Given the description of an element on the screen output the (x, y) to click on. 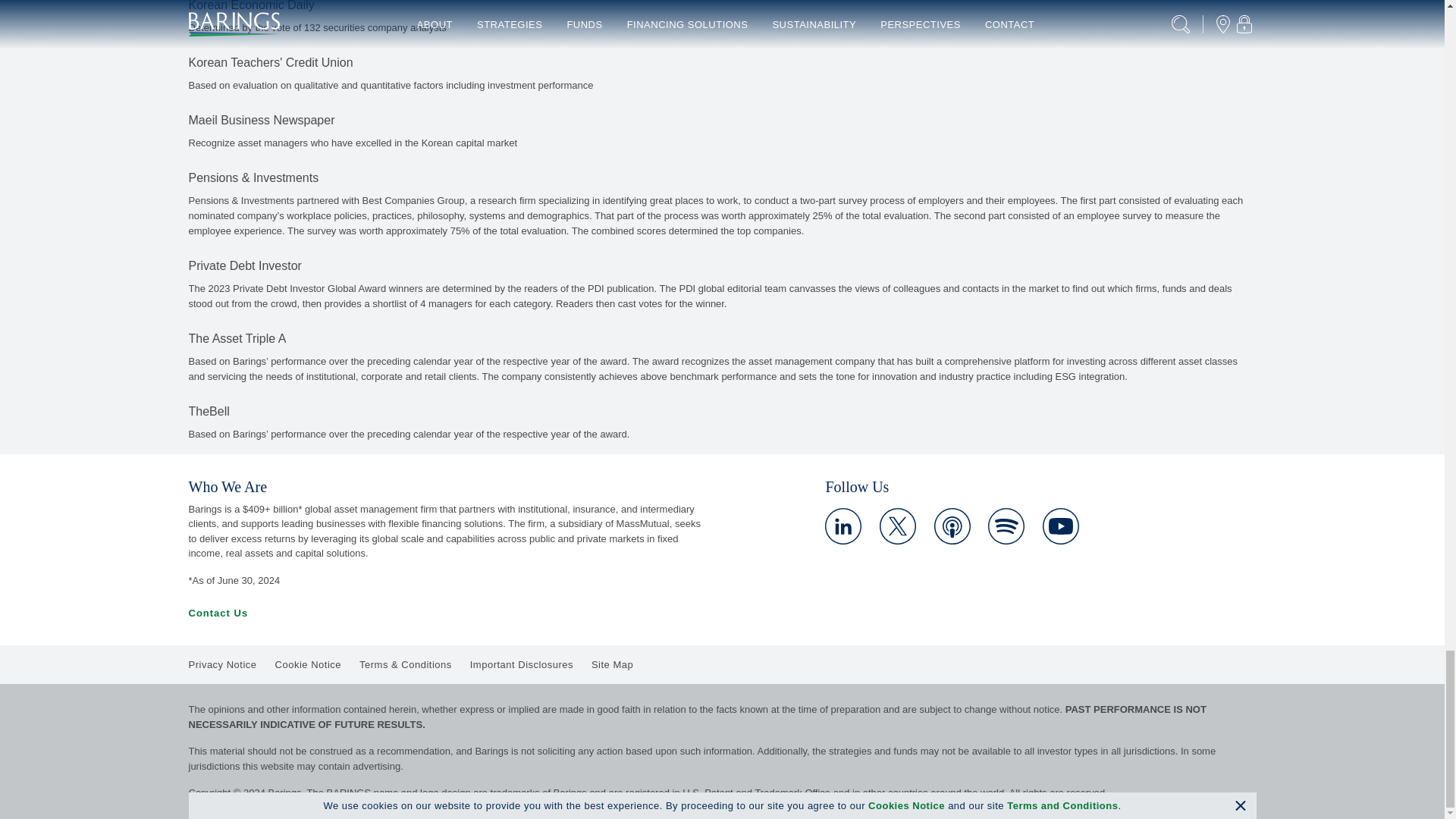
Learn More (1060, 525)
Site Map (612, 664)
Twitter (897, 525)
Privacy Notice (221, 664)
Cookie Notice (307, 664)
